Given the description of an element on the screen output the (x, y) to click on. 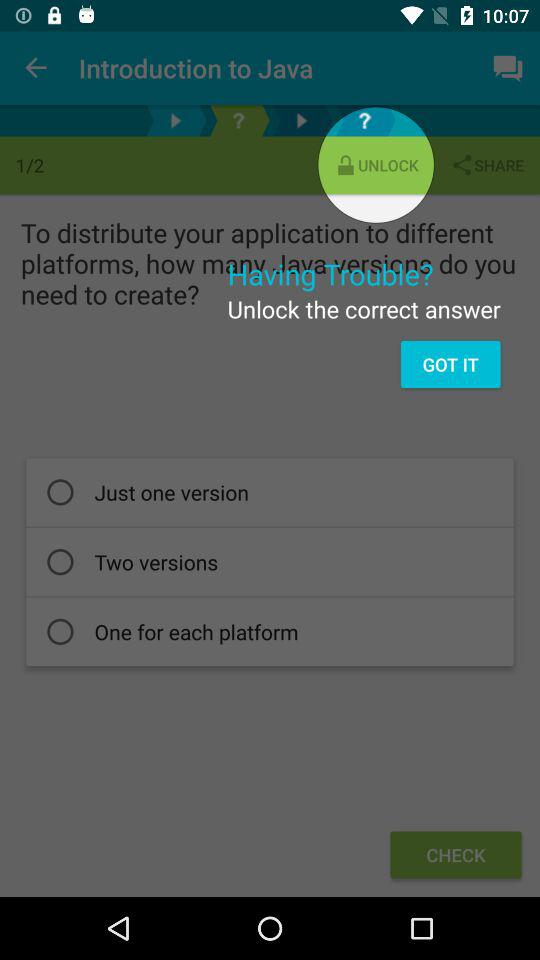
open help (364, 120)
